Given the description of an element on the screen output the (x, y) to click on. 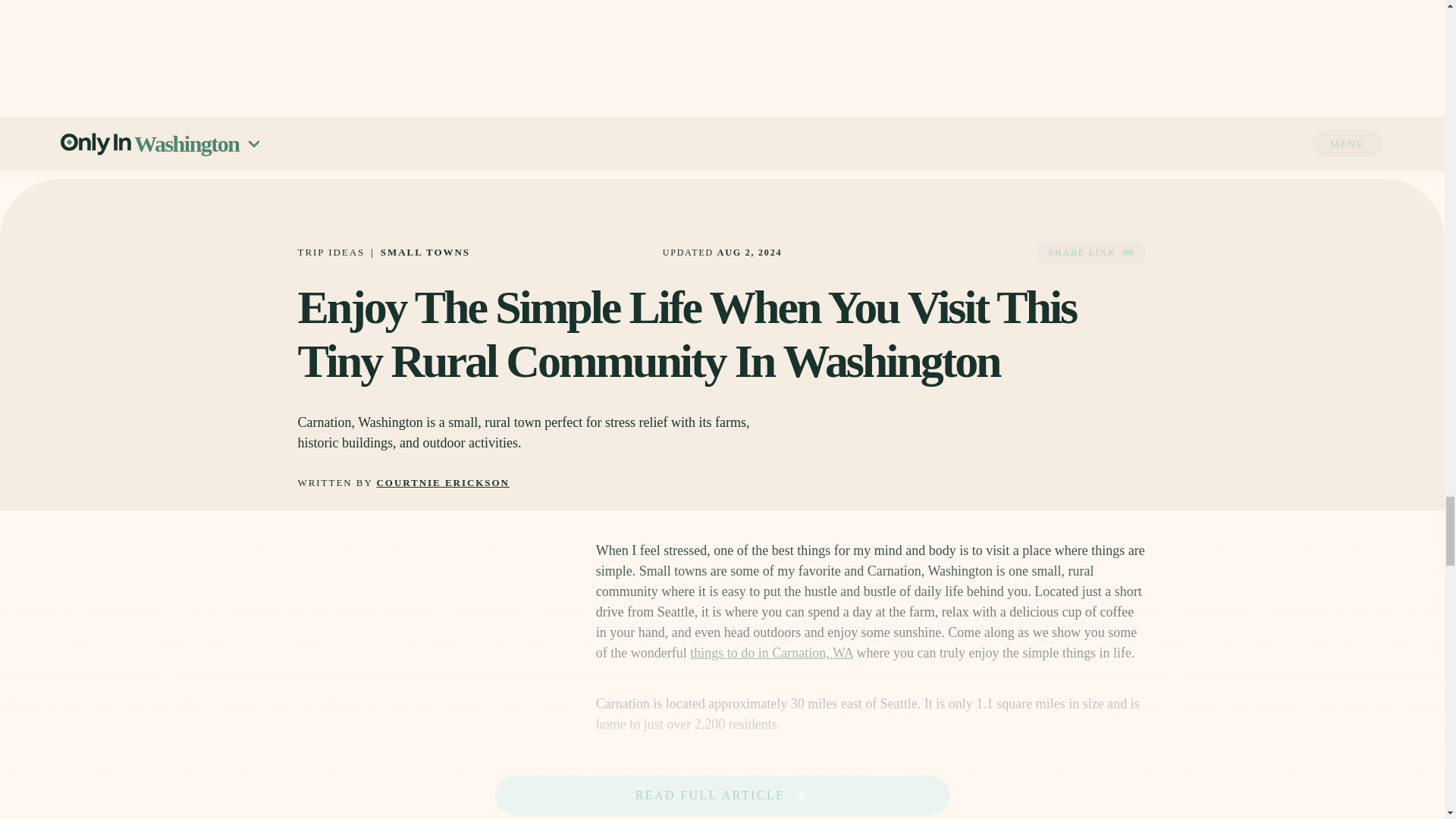
things to do in Carnation, WA (771, 652)
SHARE LINK (1091, 252)
SMALL TOWNS (425, 252)
COURTNIE ERICKSON (443, 482)
TRIP IDEAS (331, 252)
